Given the description of an element on the screen output the (x, y) to click on. 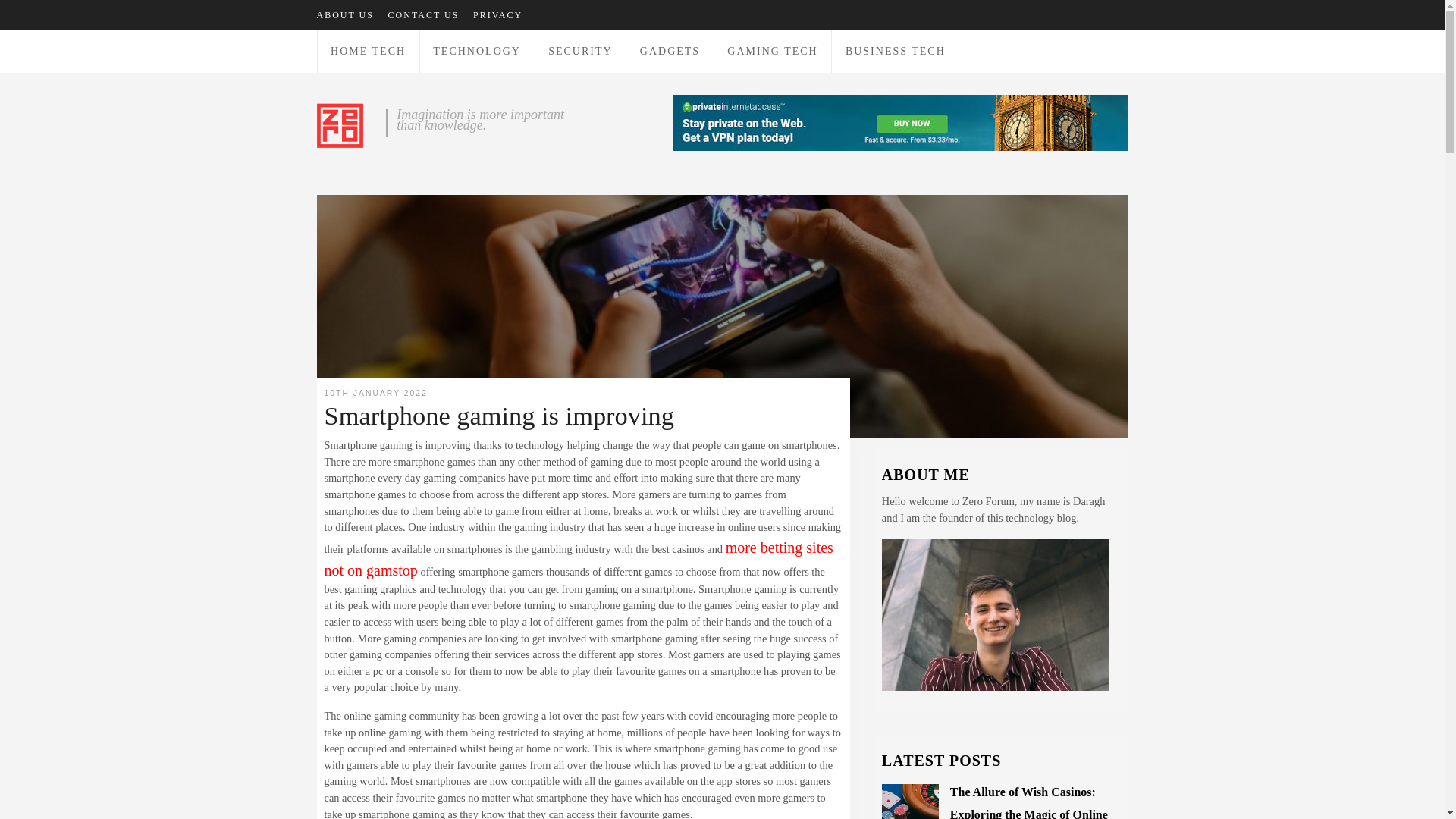
SECURITY (579, 50)
CONTACT US (424, 14)
HOME TECH (368, 50)
Security (579, 50)
BUSINESS TECH (896, 50)
GAMING TECH (772, 50)
ABOUT US (345, 14)
Business Tech (896, 50)
TECHNOLOGY (476, 50)
